Given the description of an element on the screen output the (x, y) to click on. 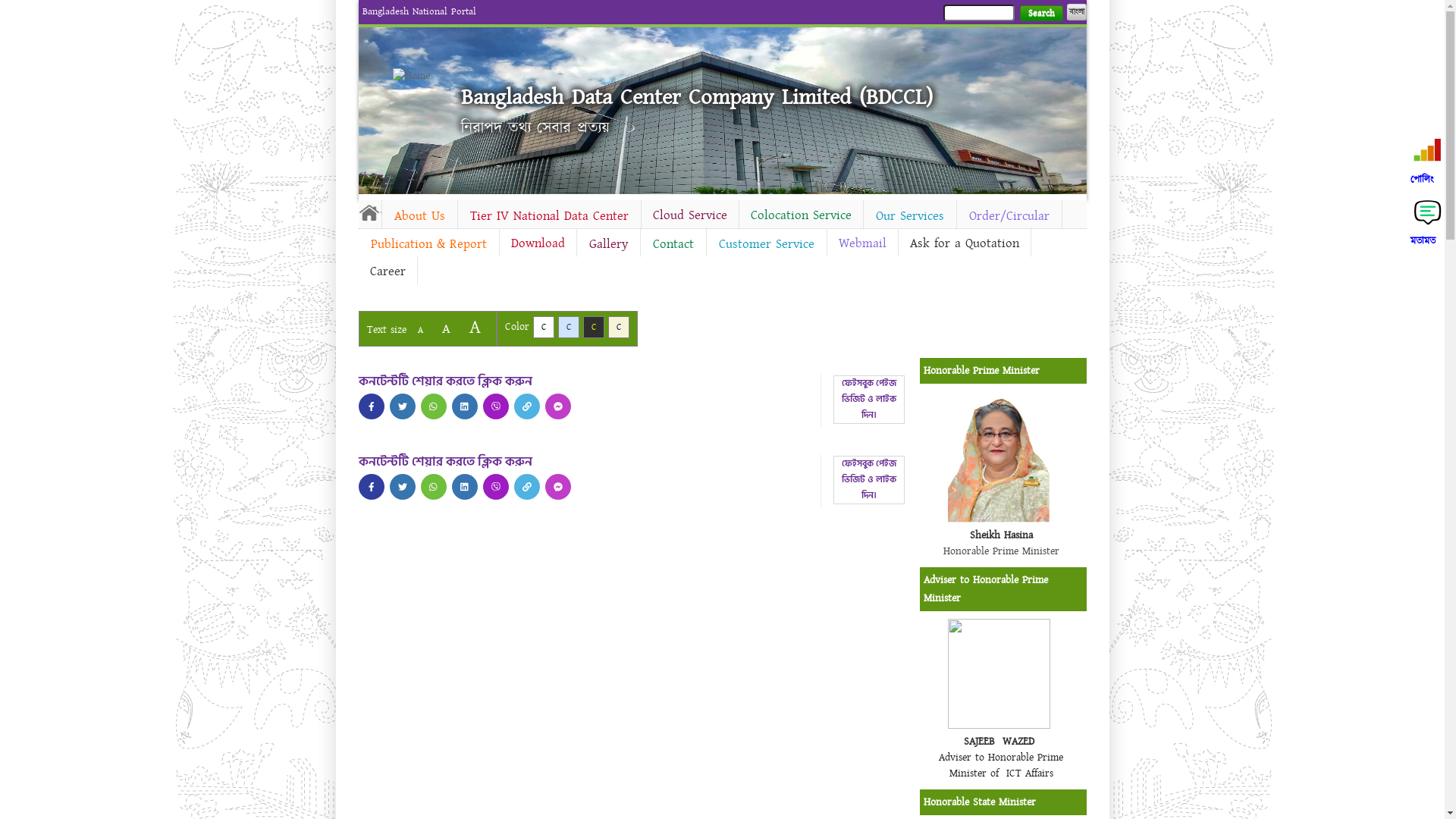
Contact Element type: text (672, 244)
A Element type: text (445, 328)
Our Services Element type: text (908, 216)
C Element type: text (618, 327)
Career Element type: text (386, 271)
C Element type: text (542, 327)
Gallery Element type: text (607, 244)
Webmail Element type: text (861, 243)
A Element type: text (419, 330)
Download Element type: text (536, 243)
Colocation Service Element type: text (800, 215)
Ask for a Quotation Element type: text (963, 243)
C Element type: text (568, 327)
Home Element type: hover (368, 211)
Customer Service Element type: text (766, 244)
Home Element type: hover (418, 76)
Bangladesh Data Center Company Limited (BDCCL) Element type: text (696, 96)
Order/Circular Element type: text (1009, 216)
A Element type: text (474, 327)
Tier IV National Data Center Element type: text (549, 216)
C Element type: text (592, 327)
Bangladesh National Portal Element type: text (419, 11)
Search Element type: text (1040, 13)
Publication & Report Element type: text (427, 244)
About Us Element type: text (419, 216)
Cloud Service Element type: text (689, 215)
